Given the description of an element on the screen output the (x, y) to click on. 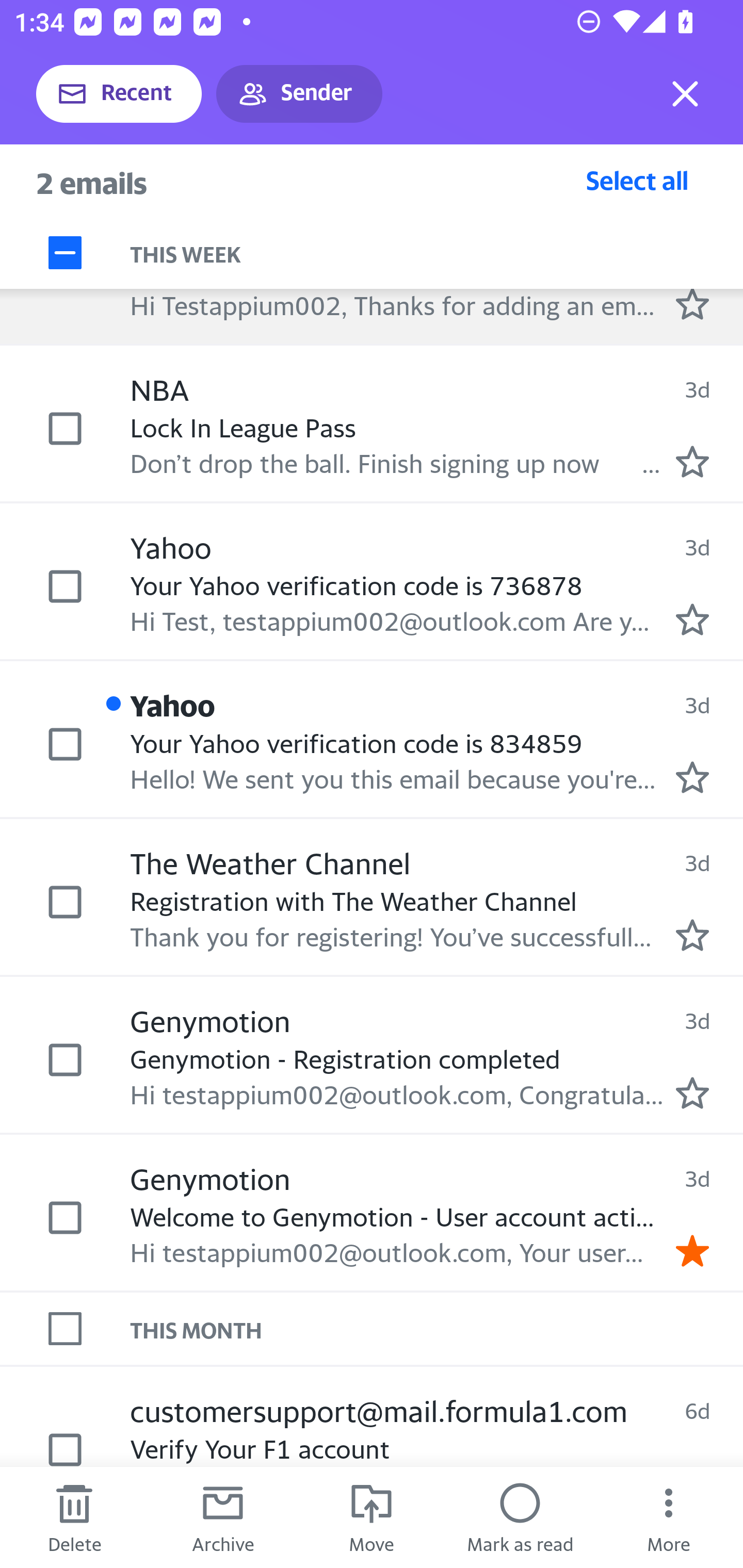
Sender (299, 93)
Exit selection mode (684, 93)
Select all (637, 180)
Mark as starred. (692, 303)
Mark as starred. (692, 461)
Mark as starred. (692, 620)
Mark as starred. (692, 776)
Mark as starred. (692, 935)
Mark as starred. (692, 1093)
Remove star. (692, 1250)
THIS MONTH (436, 1328)
Delete (74, 1517)
Archive (222, 1517)
Move (371, 1517)
Mark as read (519, 1517)
More (668, 1517)
